Given the description of an element on the screen output the (x, y) to click on. 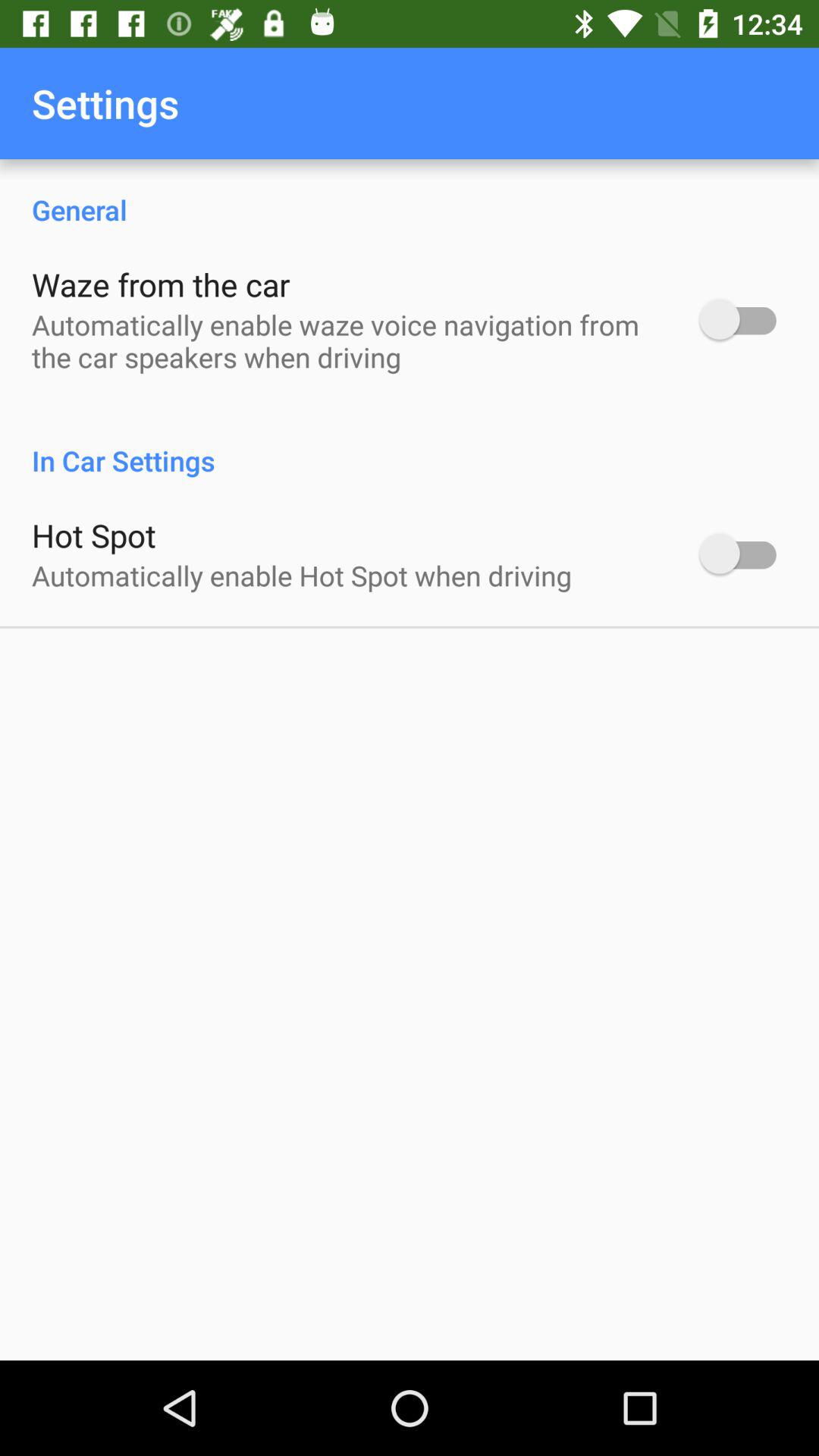
turn off the item above hot spot (409, 444)
